Given the description of an element on the screen output the (x, y) to click on. 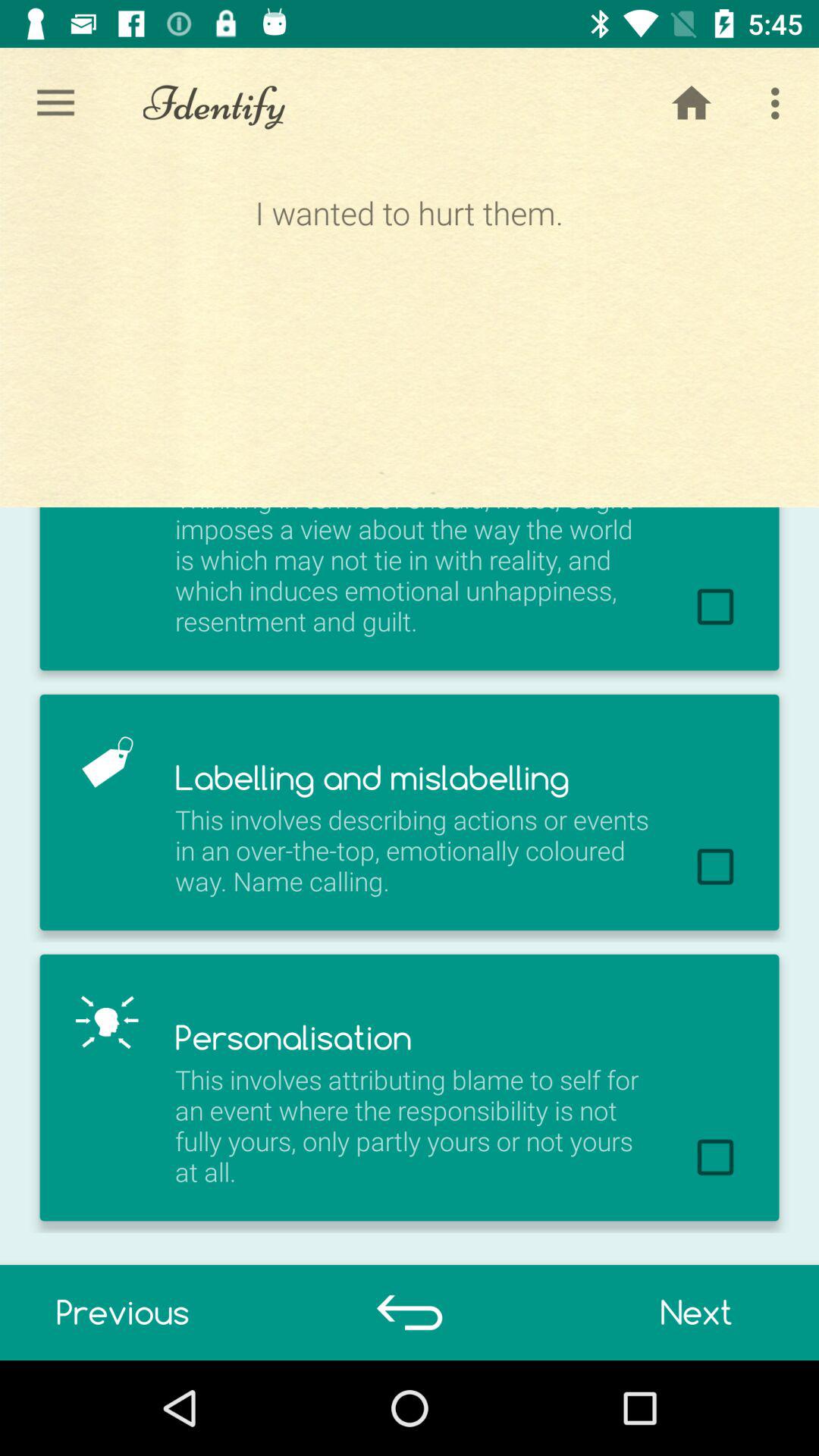
press the icon next to identify item (691, 103)
